Given the description of an element on the screen output the (x, y) to click on. 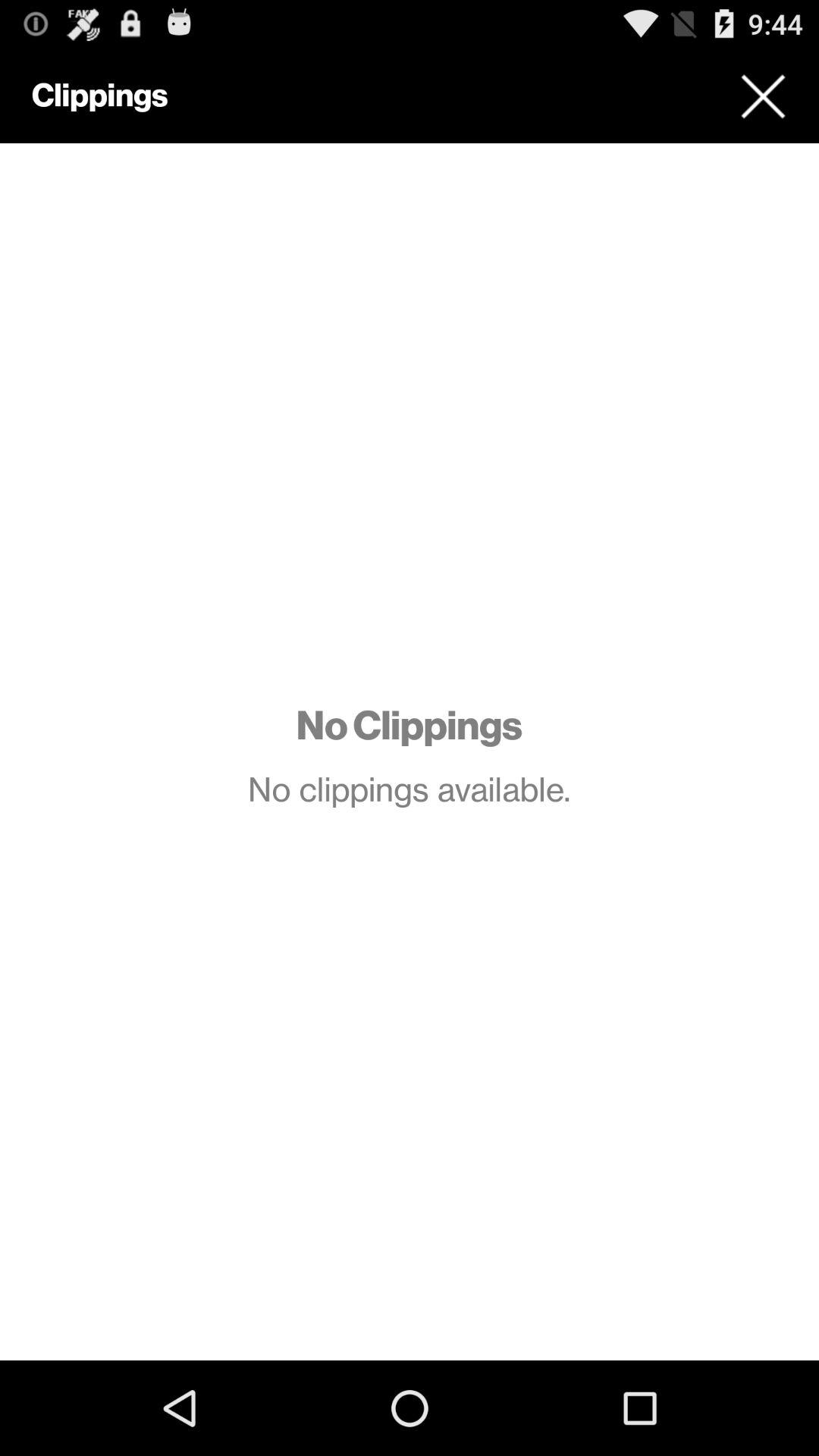
the cross mark symbol at the top right corner of the page (763, 95)
